Given the description of an element on the screen output the (x, y) to click on. 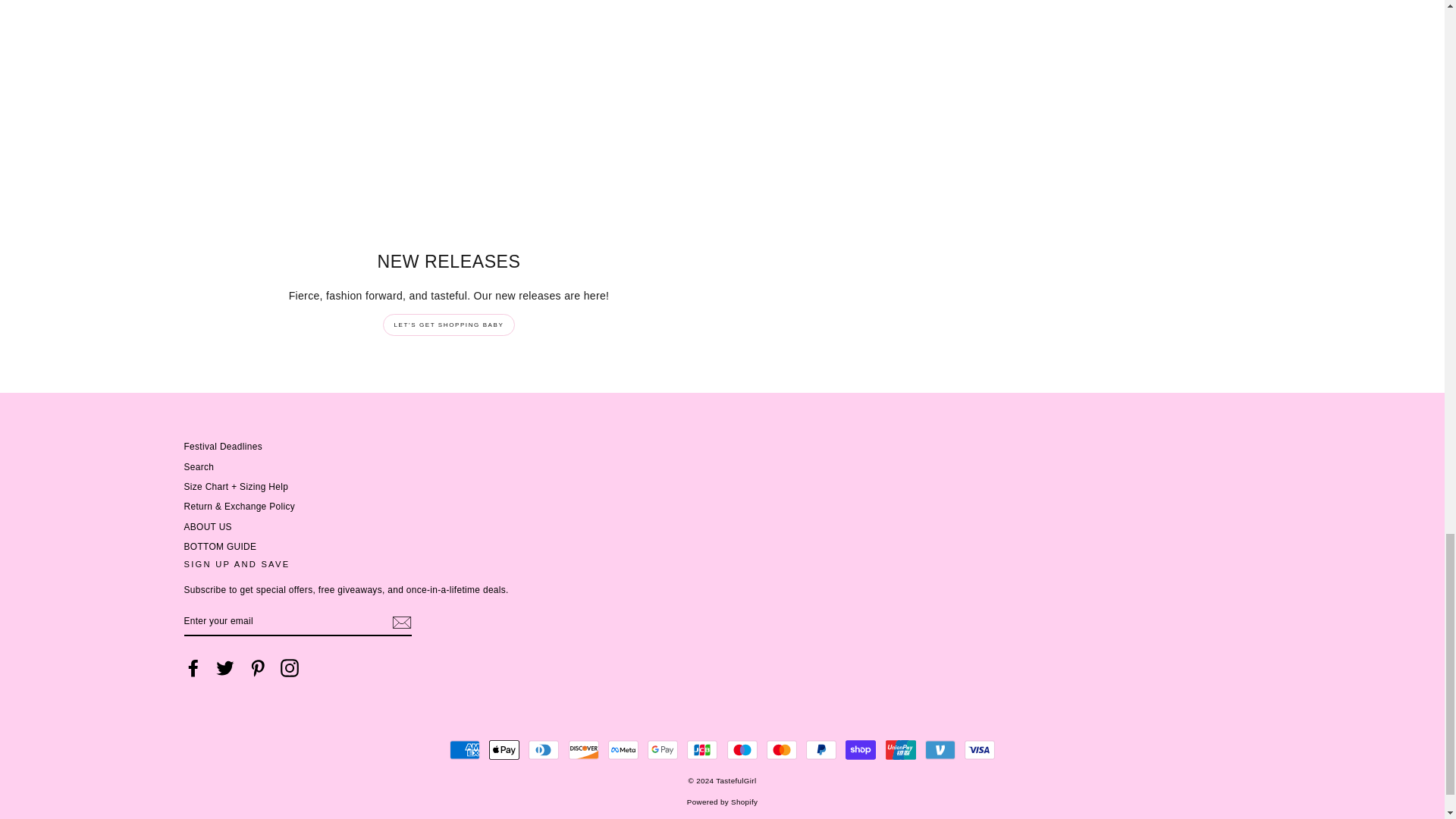
Discover (583, 749)
JCB (702, 749)
TastefulGirl on Twitter (224, 668)
TastefulGirl on Facebook (192, 668)
TastefulGirl on Instagram (289, 668)
Maestro (741, 749)
Google Pay (662, 749)
Apple Pay (504, 749)
TastefulGirl on Pinterest (257, 668)
Meta Pay (623, 749)
